Given the description of an element on the screen output the (x, y) to click on. 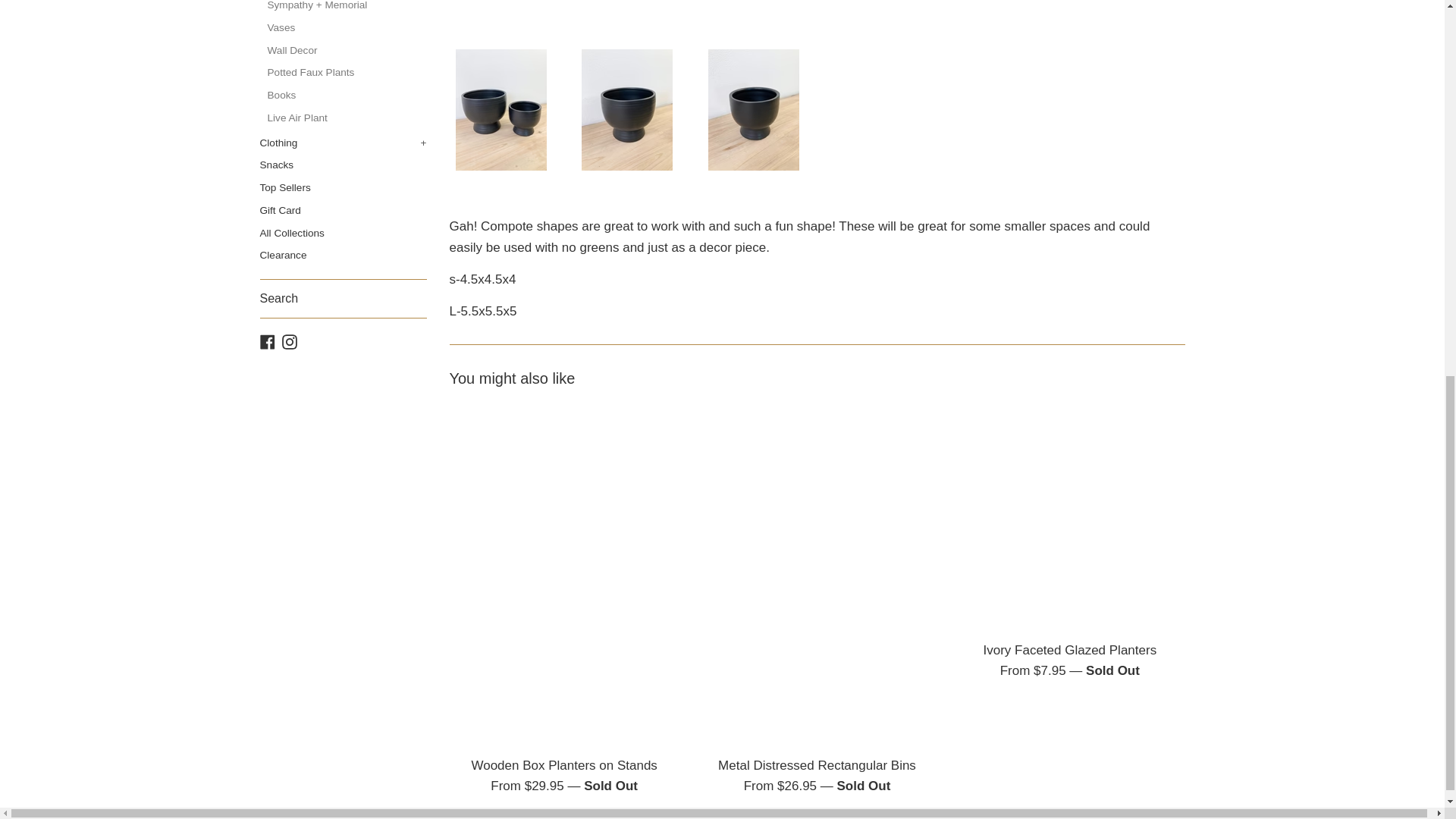
Potted Faux Plants (346, 72)
Books (346, 95)
Wooden Box Planters on Stands (563, 574)
Ivory Faceted Glazed Planters (1070, 517)
Vases (346, 27)
Rustic Raven Home Decor on Instagram (289, 341)
Metal Distressed Rectangular Bins (816, 574)
Live Air Plant (346, 118)
Wall Decor (346, 50)
Rustic Raven Home Decor on Facebook (267, 341)
